Given the description of an element on the screen output the (x, y) to click on. 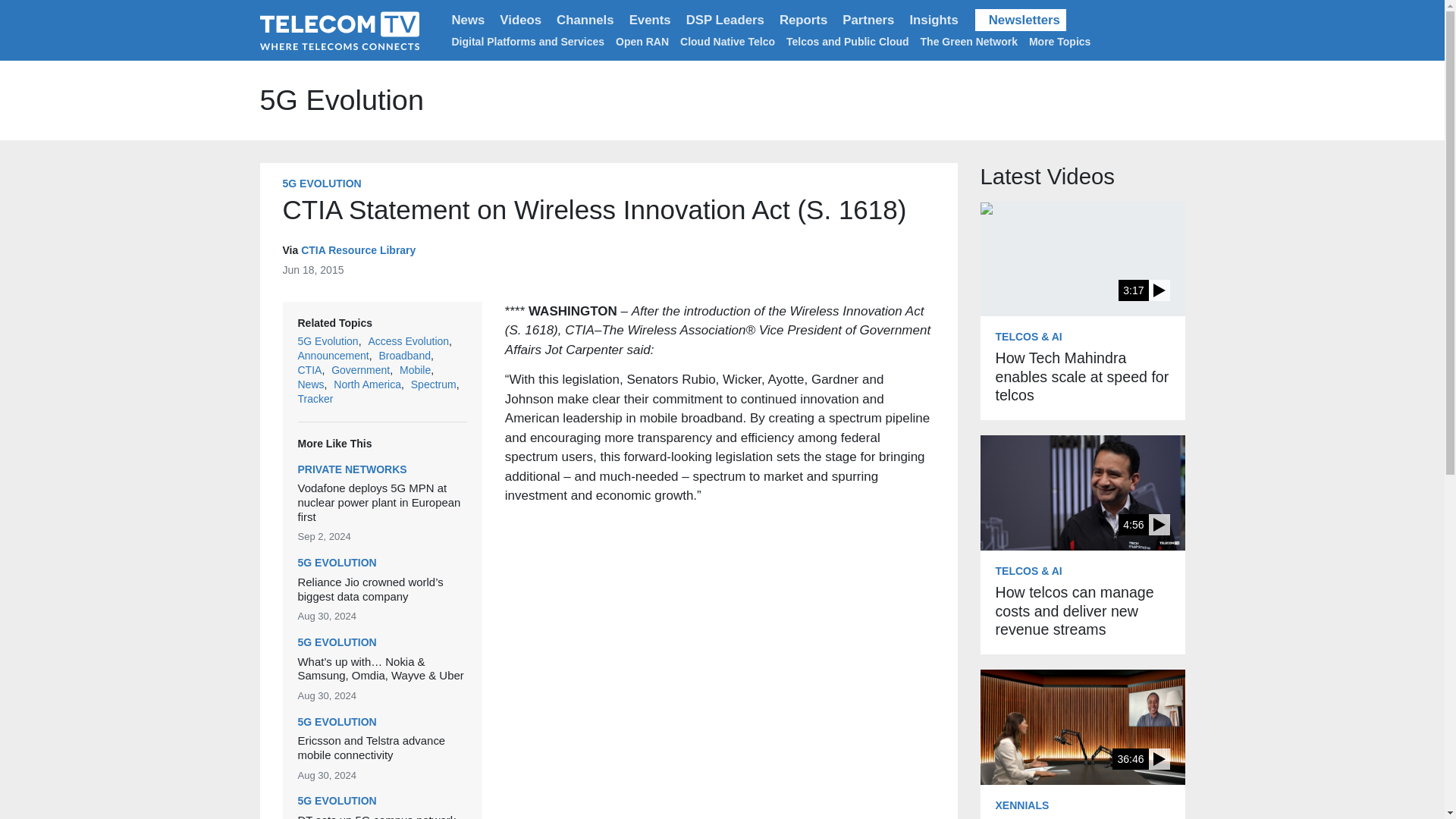
Cloud Native Telco (726, 41)
Open RAN (641, 41)
More Topics (1062, 41)
News (468, 20)
Newsletters (1020, 20)
Insights (932, 20)
Telcos and Public Cloud (847, 41)
Partners (867, 20)
The Green Network (968, 41)
Videos (520, 20)
